Given the description of an element on the screen output the (x, y) to click on. 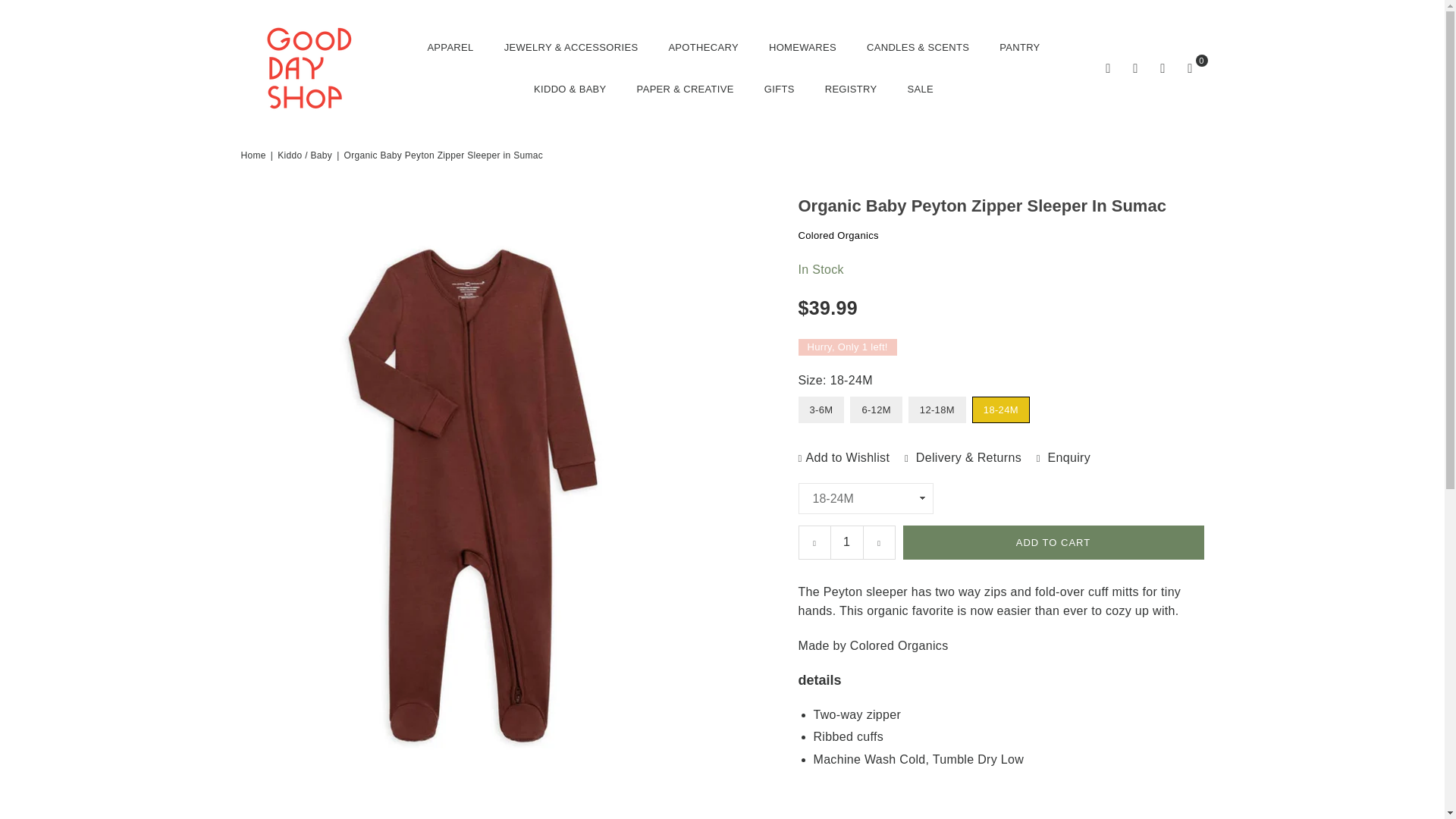
Wishlist (1163, 67)
Quantity (846, 542)
HOMEWARES (802, 46)
Search (1108, 67)
APOTHECARY (702, 46)
GIFTS (779, 88)
0 (1190, 67)
PANTRY (1019, 46)
Cart (1190, 67)
APPAREL (449, 46)
SALE (919, 88)
Settings (1136, 67)
REGISTRY (850, 88)
1 (847, 542)
Back to the home page (254, 155)
